Given the description of an element on the screen output the (x, y) to click on. 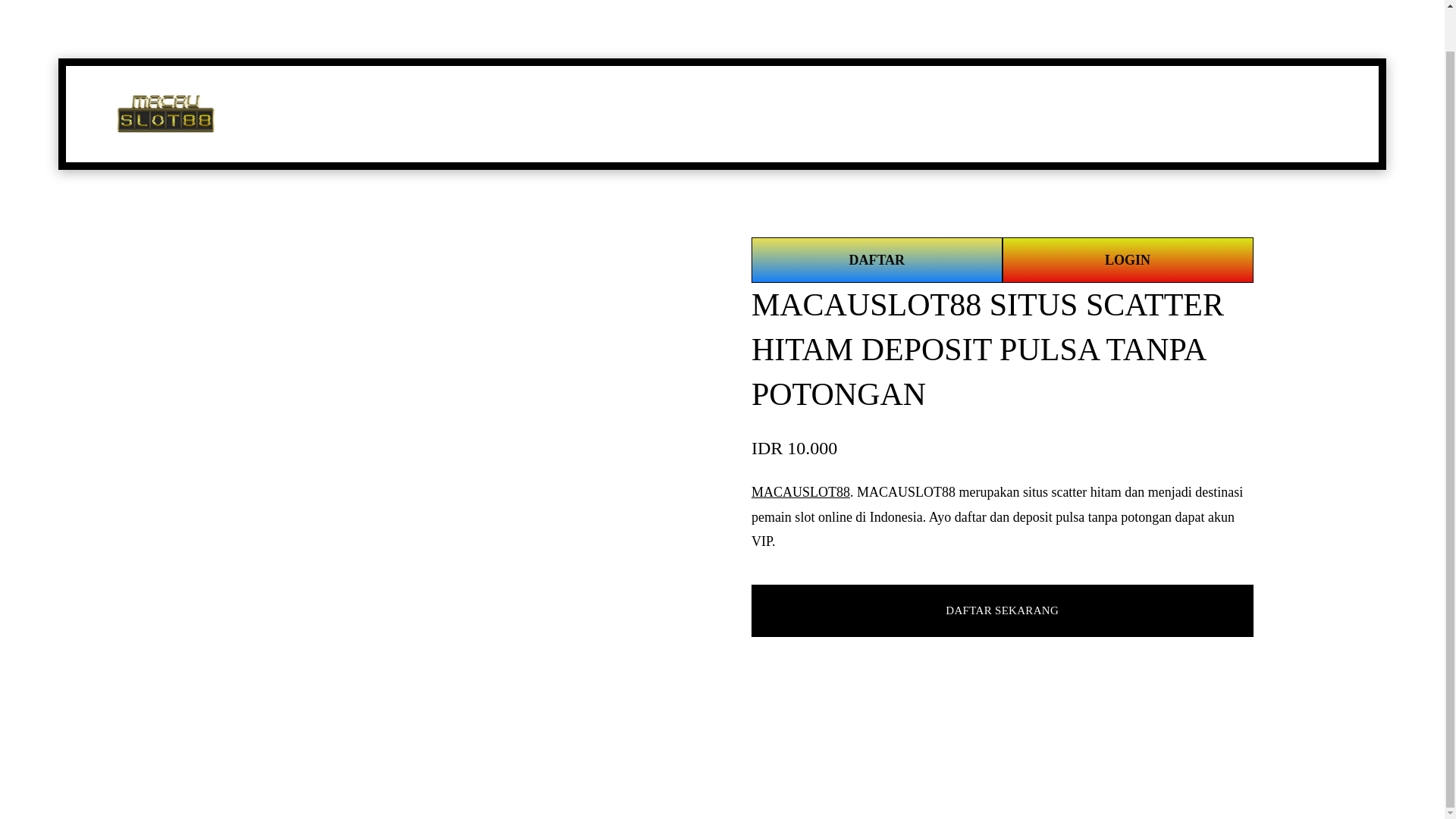
DAFTAR SEKARANG (1001, 610)
LOGIN (1128, 259)
MACAUSLOT88 (800, 491)
DAFTAR (877, 259)
